Given the description of an element on the screen output the (x, y) to click on. 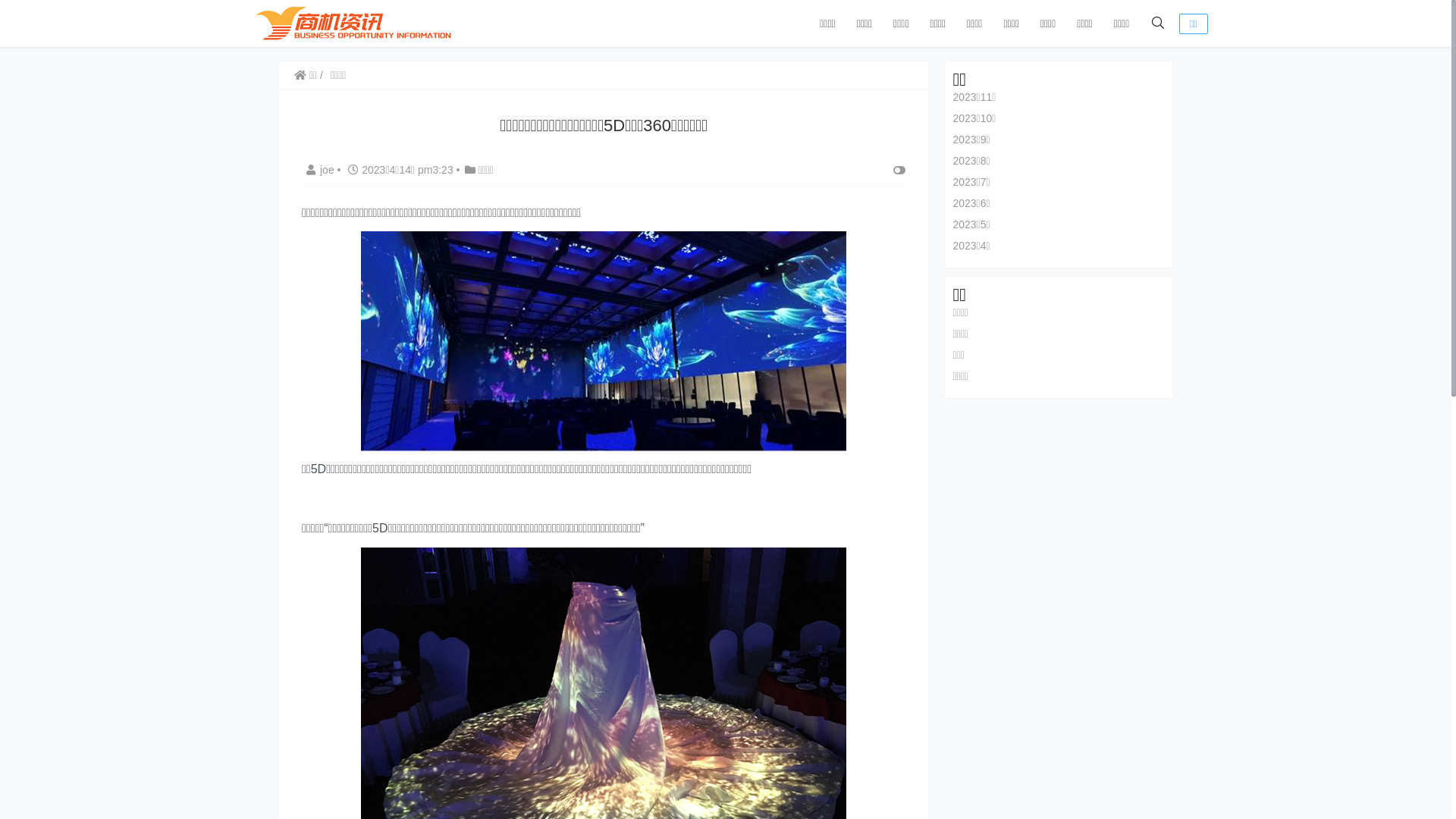
joe Element type: text (319, 169)
